Given the description of an element on the screen output the (x, y) to click on. 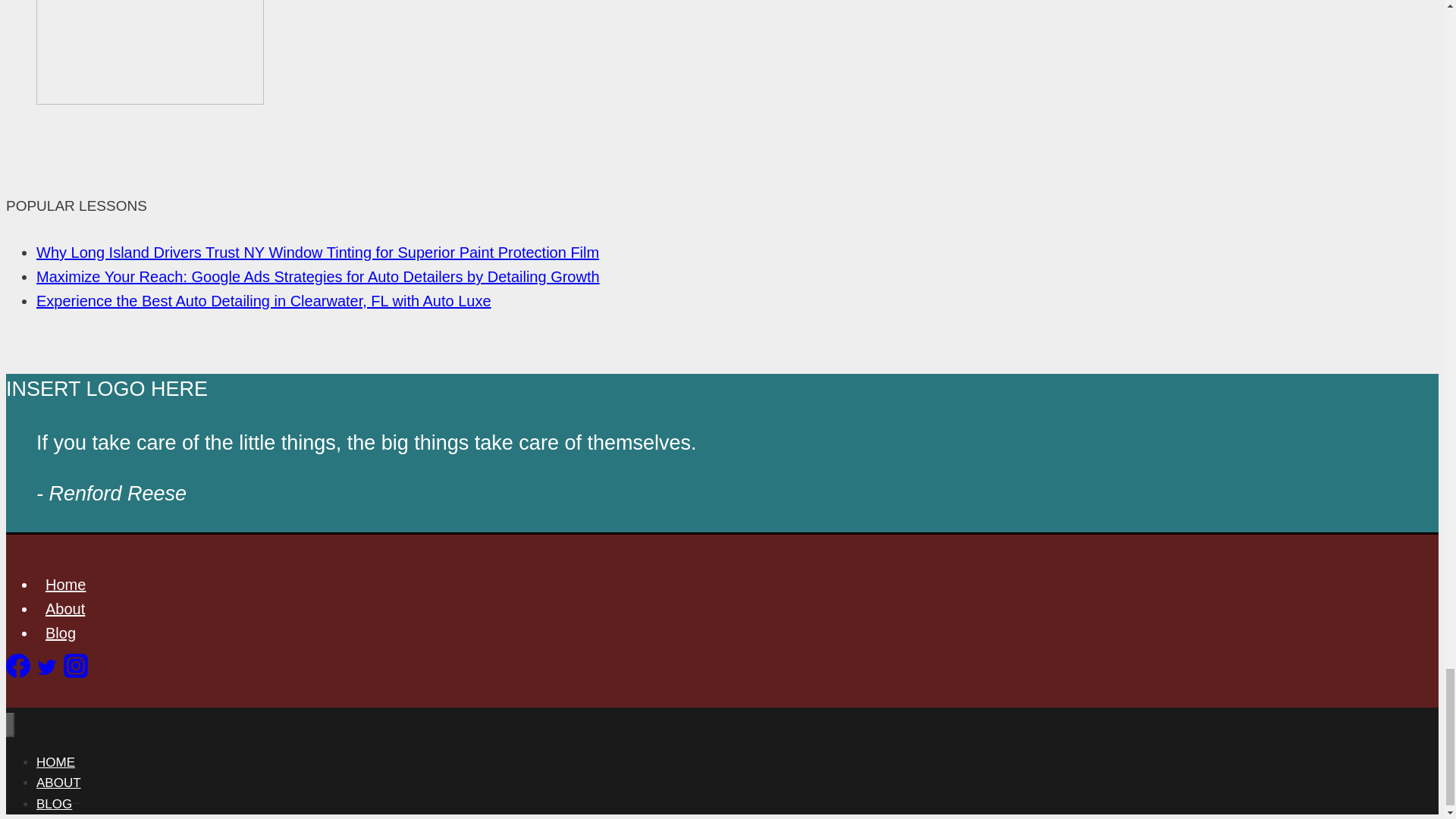
Blog (60, 632)
HOME (55, 762)
Instagram (75, 672)
About (65, 608)
Home (65, 584)
Instagram (75, 665)
Facebook (17, 665)
ABOUT (58, 782)
Twitter (46, 667)
Twitter (46, 672)
Facebook (17, 672)
